Given the description of an element on the screen output the (x, y) to click on. 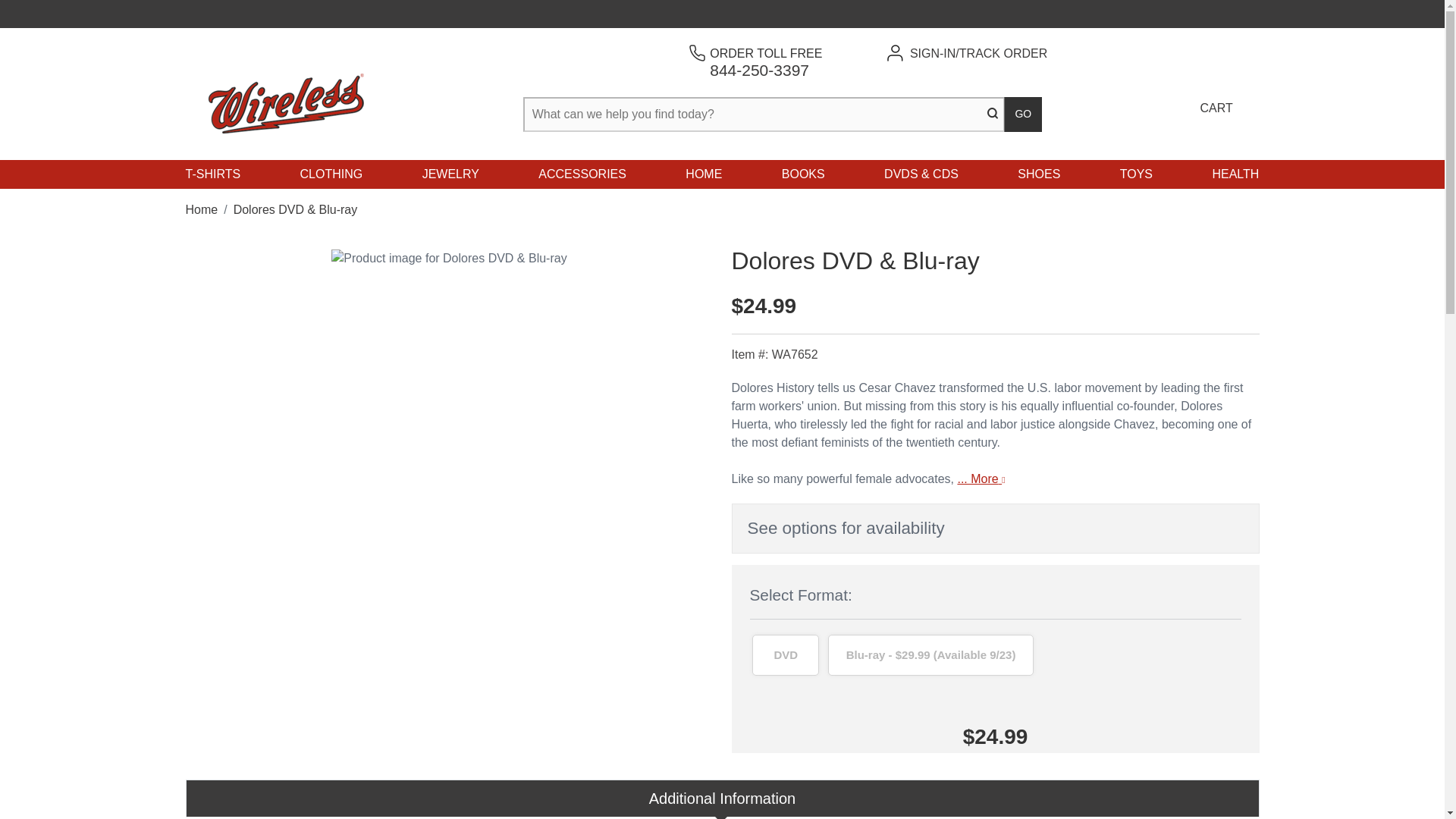
JEWELRY (450, 174)
GO (1023, 114)
CLOTHING (330, 174)
CART (1214, 93)
HOME (703, 174)
T-SHIRTS (766, 60)
ACCESSORIES (212, 174)
